Given the description of an element on the screen output the (x, y) to click on. 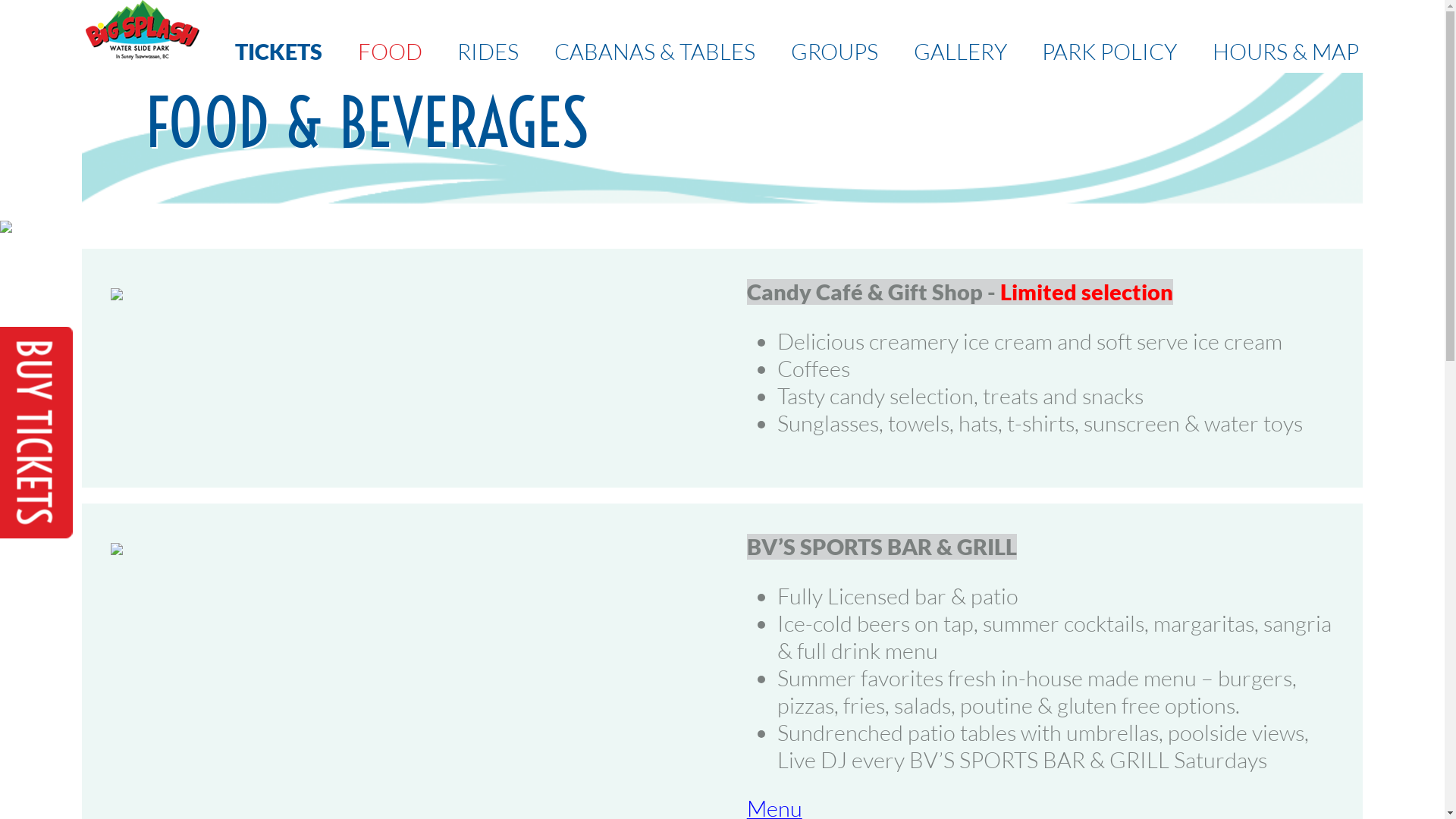
PARK POLICY Element type: text (1108, 51)
GROUPS Element type: text (834, 51)
GALLERY Element type: text (959, 51)
HOURS & MAP Element type: text (1285, 51)
FOOD Element type: text (389, 51)
TICKETS Element type: text (278, 51)
CABANAS & TABLES Element type: text (654, 51)
RIDES Element type: text (487, 51)
